Given the description of an element on the screen output the (x, y) to click on. 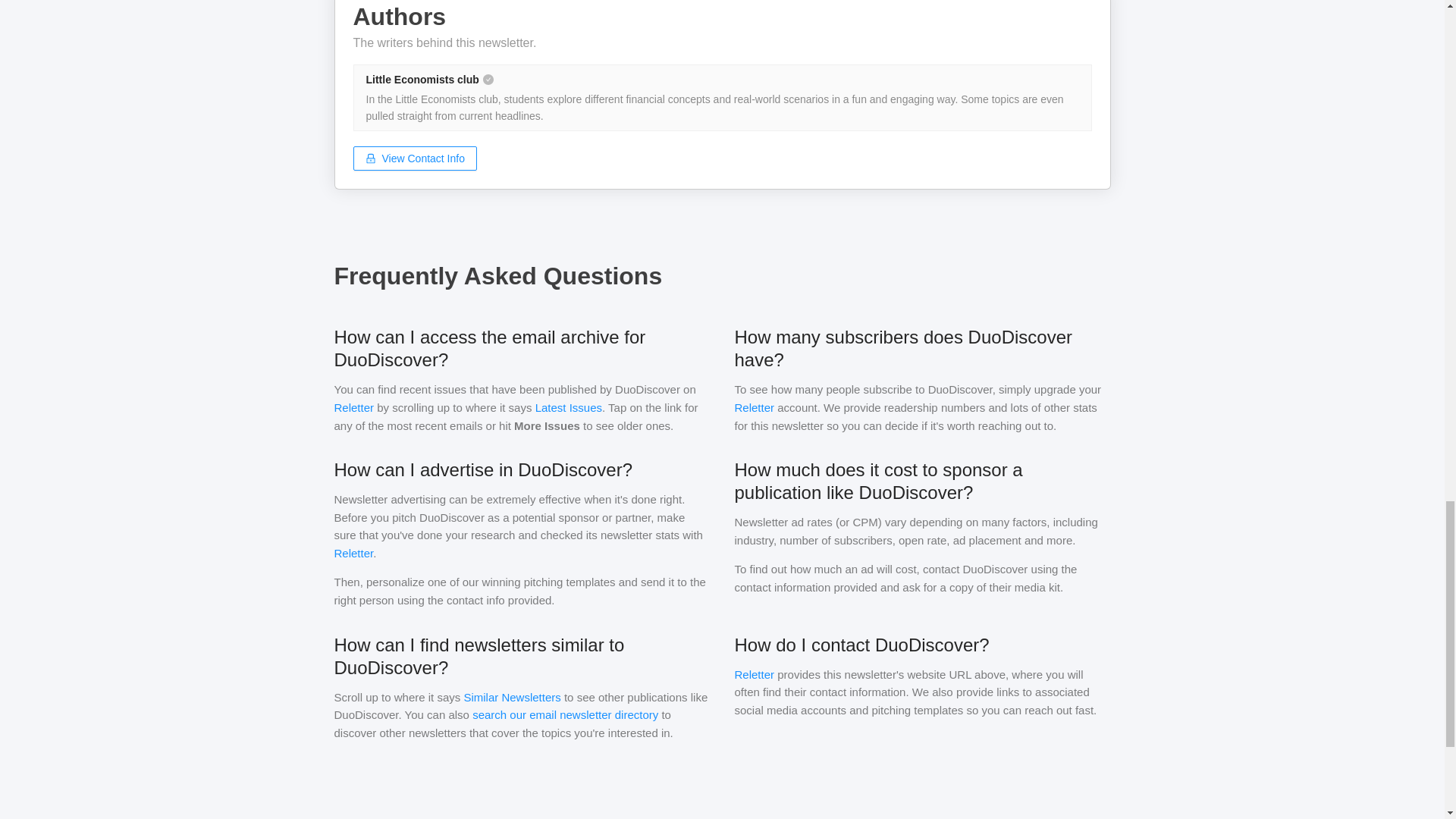
Latest Issues (568, 407)
Reletter (352, 553)
View Contact Info (415, 158)
Similar Newsletters (511, 696)
Reletter (753, 673)
search our email newsletter directory (564, 714)
Reletter (353, 407)
Reletter (753, 407)
